Given the description of an element on the screen output the (x, y) to click on. 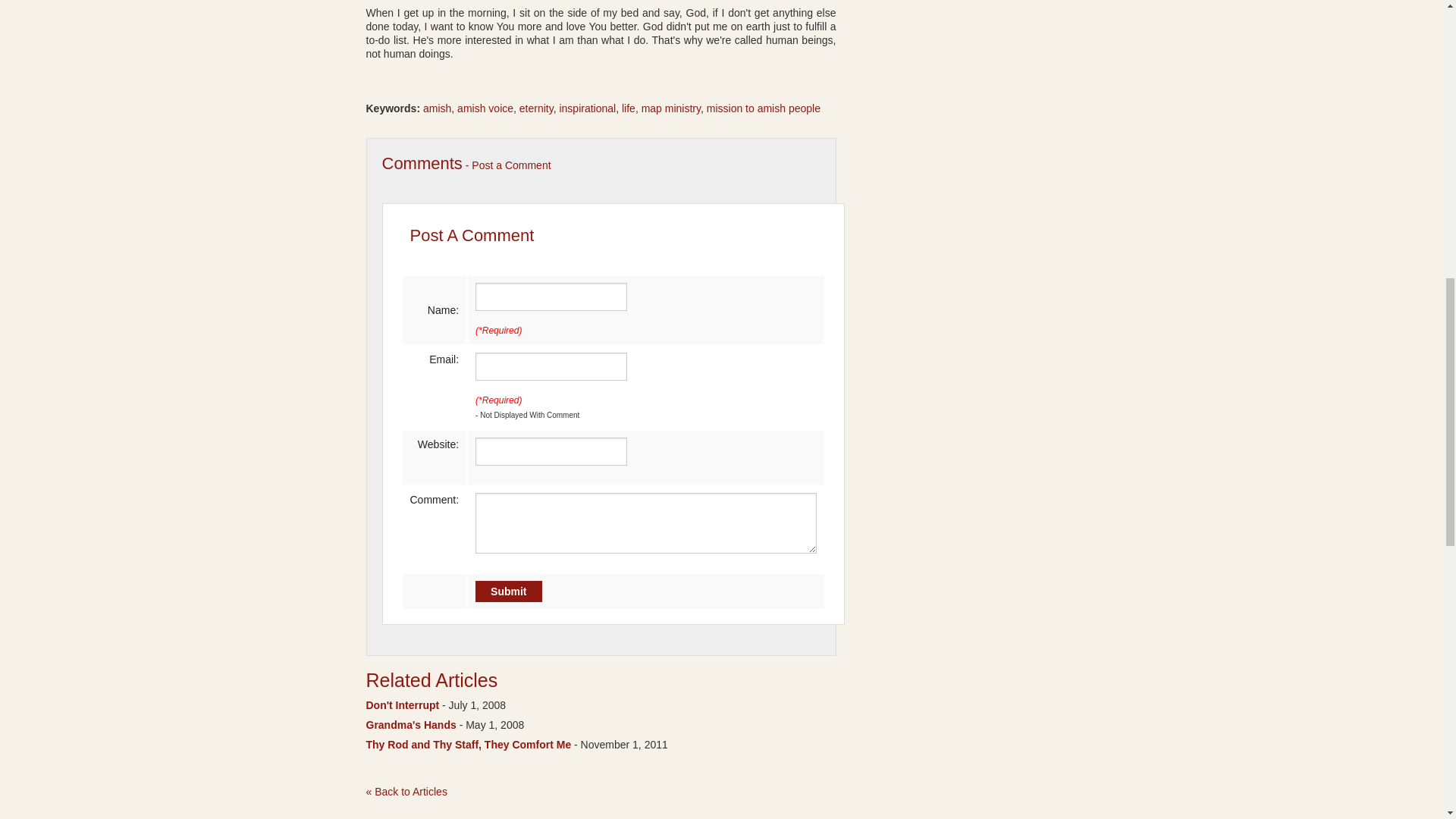
Submit (508, 590)
